Given the description of an element on the screen output the (x, y) to click on. 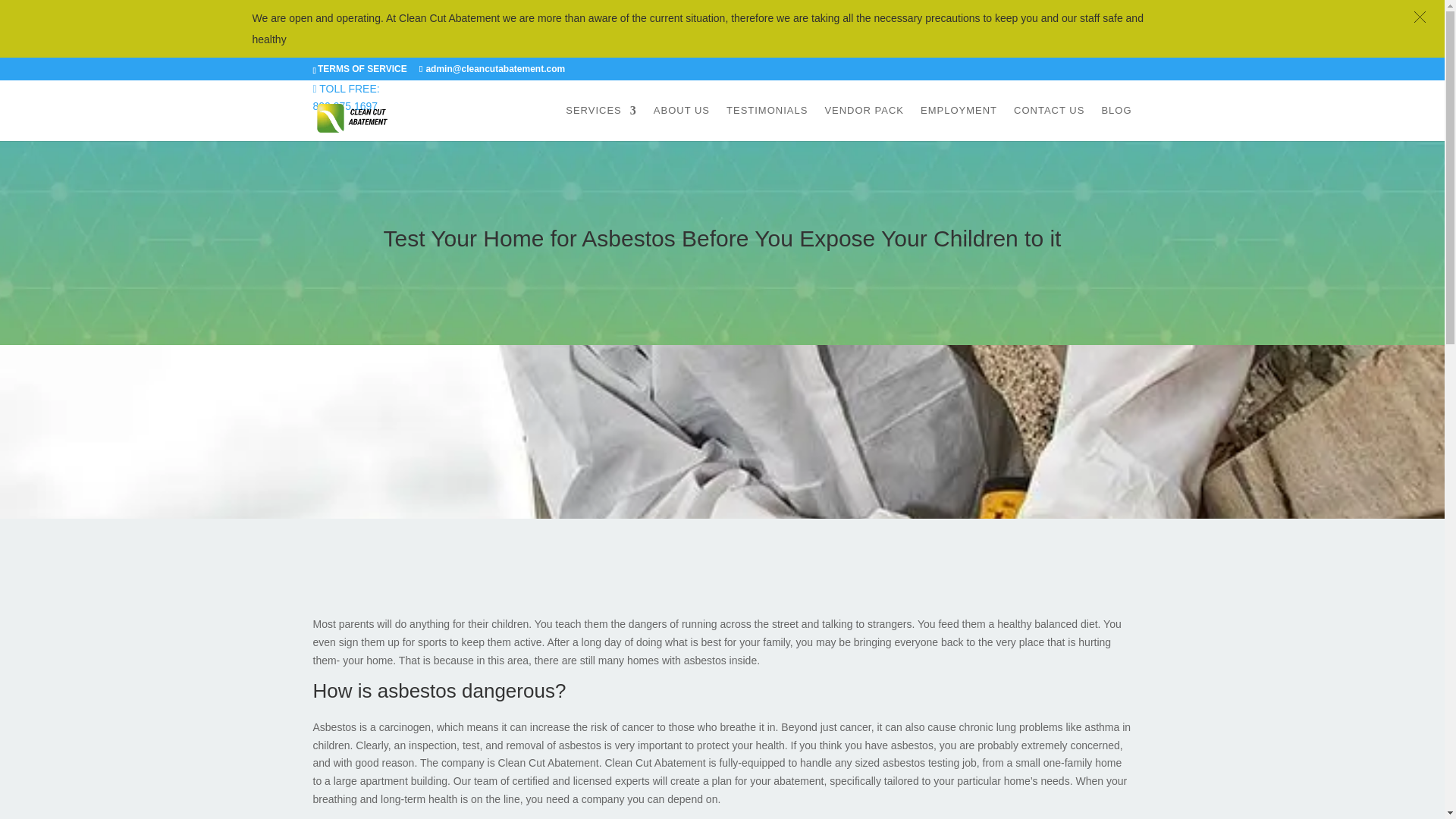
TOLL FREE: 800.975.1697 (345, 97)
CONTACT US (1048, 122)
VENDOR PACK (864, 122)
TERMS OF SERVICE (362, 68)
EMPLOYMENT (958, 122)
SERVICES (601, 122)
BLOG (1115, 122)
ABOUT US (681, 122)
TESTIMONIALS (767, 122)
